Given the description of an element on the screen output the (x, y) to click on. 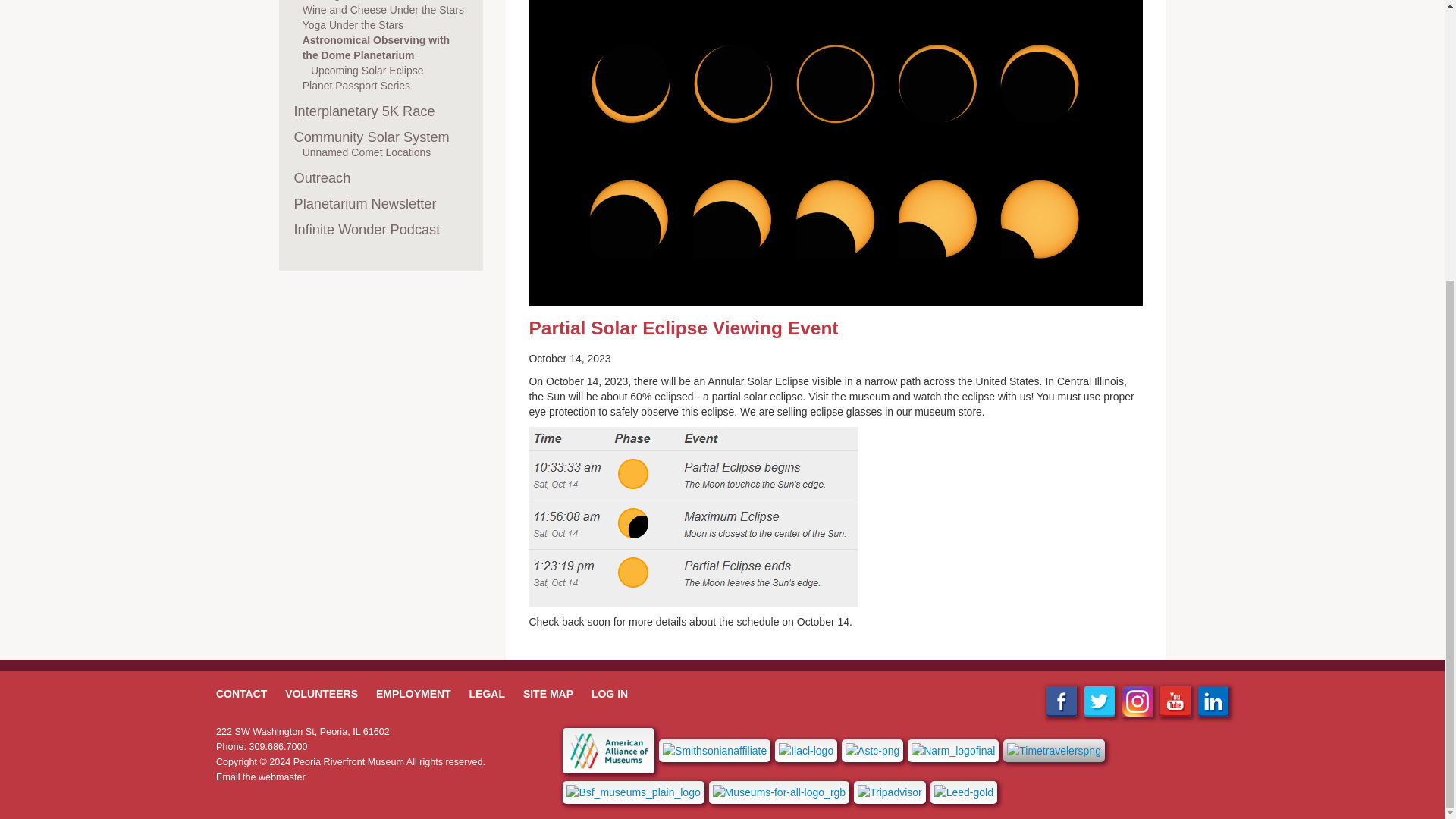
Eclipse Times October 14 Peoria (693, 516)
